Given the description of an element on the screen output the (x, y) to click on. 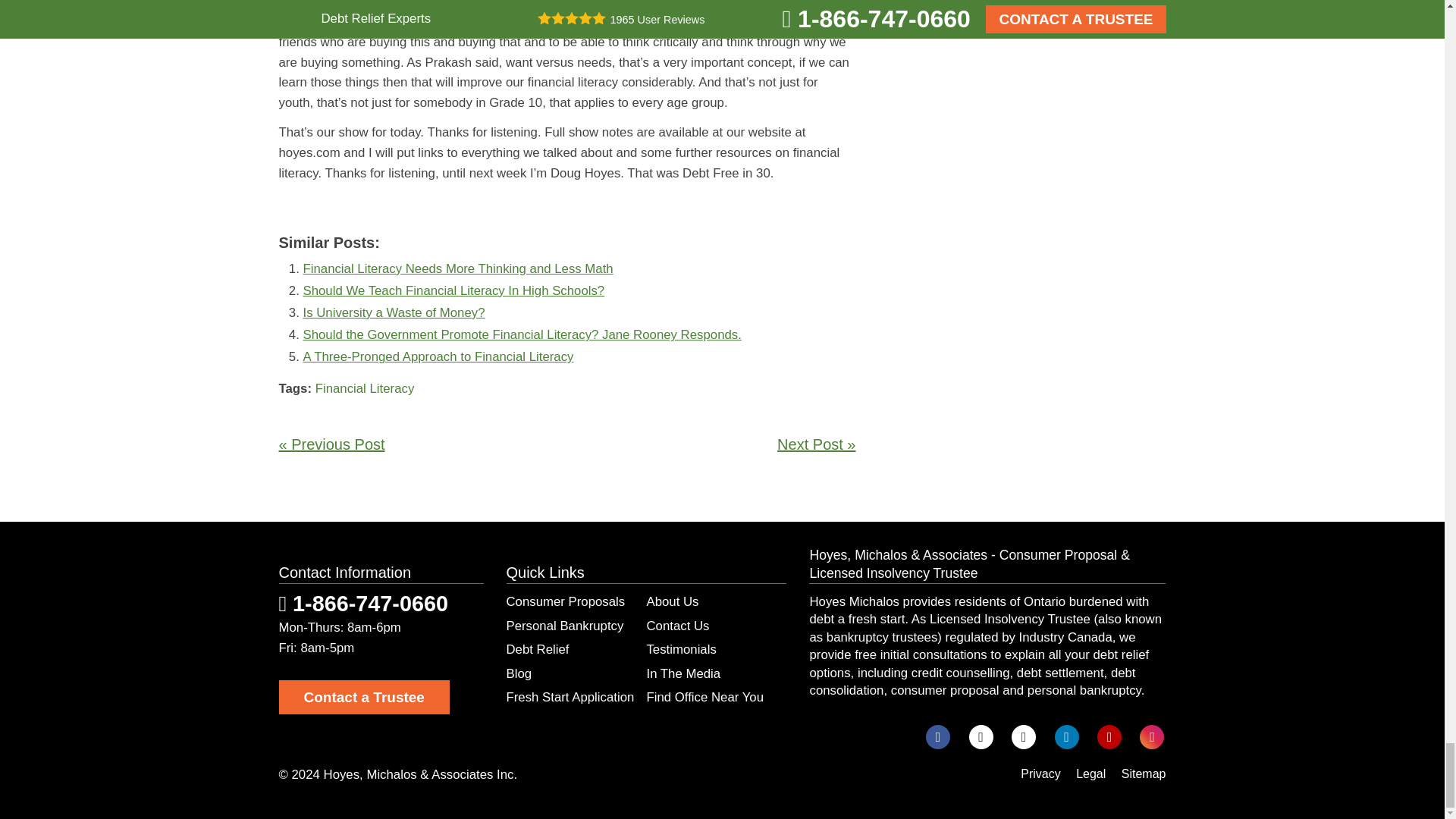
A Three-Pronged Approach to Financial Literacy (437, 356)
Should We Teach Financial Literacy In High Schools? (453, 290)
Visit our Twitter page (980, 736)
Is University a Waste of Money? (393, 312)
Visit our Facebook page (938, 736)
Visit our TikTok page (1023, 736)
Is University a Waste of Money? (393, 312)
Financial Literacy Needs More Thinking and Less Math (457, 268)
Financial Literacy Needs More Thinking and Less Math (457, 268)
Should We Teach Financial Literacy In High Schools? (453, 290)
